Given the description of an element on the screen output the (x, y) to click on. 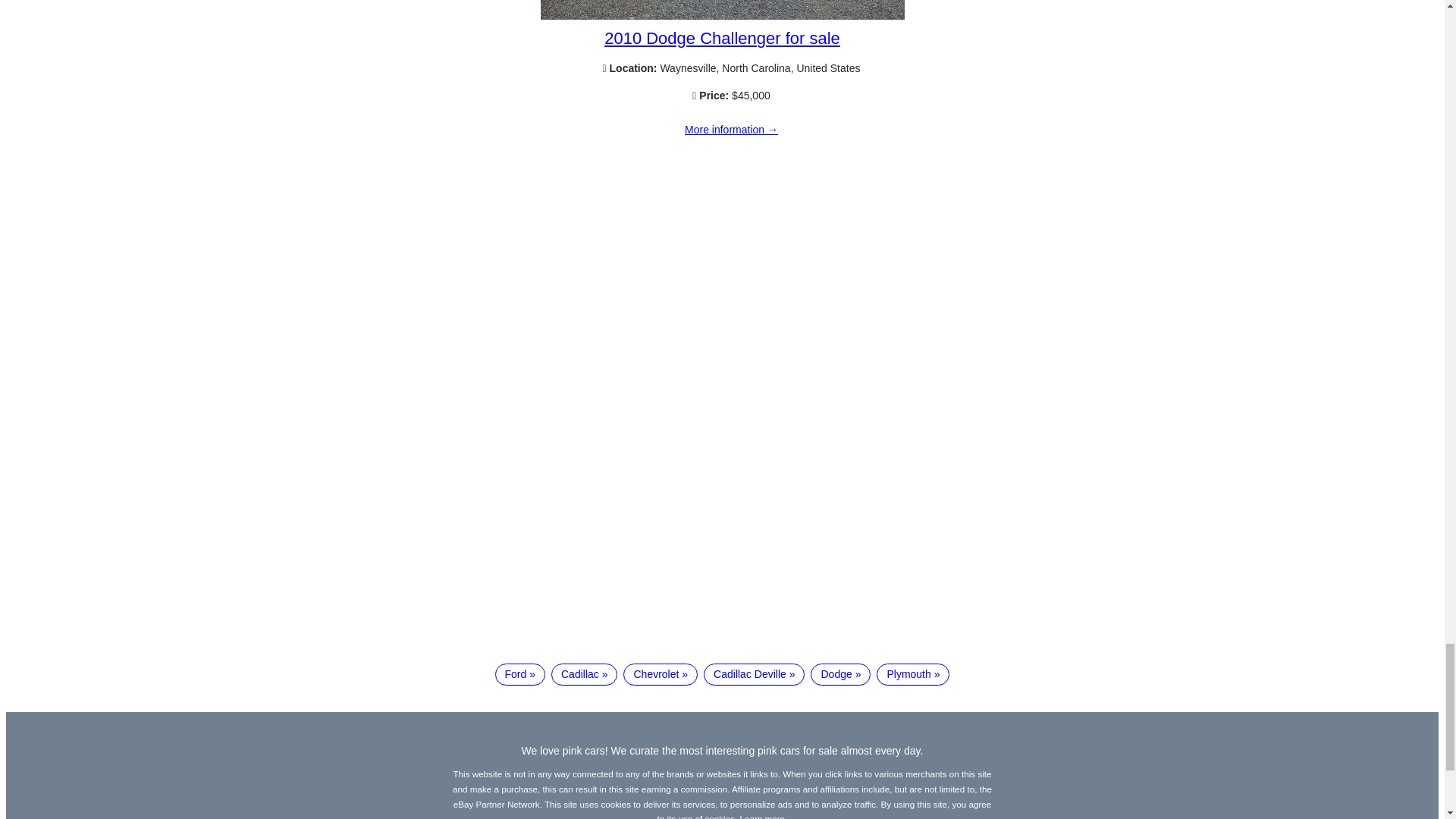
Chevrolet (660, 673)
Cadillac (584, 673)
Dodge (840, 673)
Learn more (762, 816)
2010 Dodge Challenger for sale (722, 15)
Ford (519, 673)
2010 Dodge Challenger for sale (722, 37)
Plymouth (912, 673)
2010 Dodge Challenger for sale (731, 130)
Cadillac Deville (754, 673)
